Given the description of an element on the screen output the (x, y) to click on. 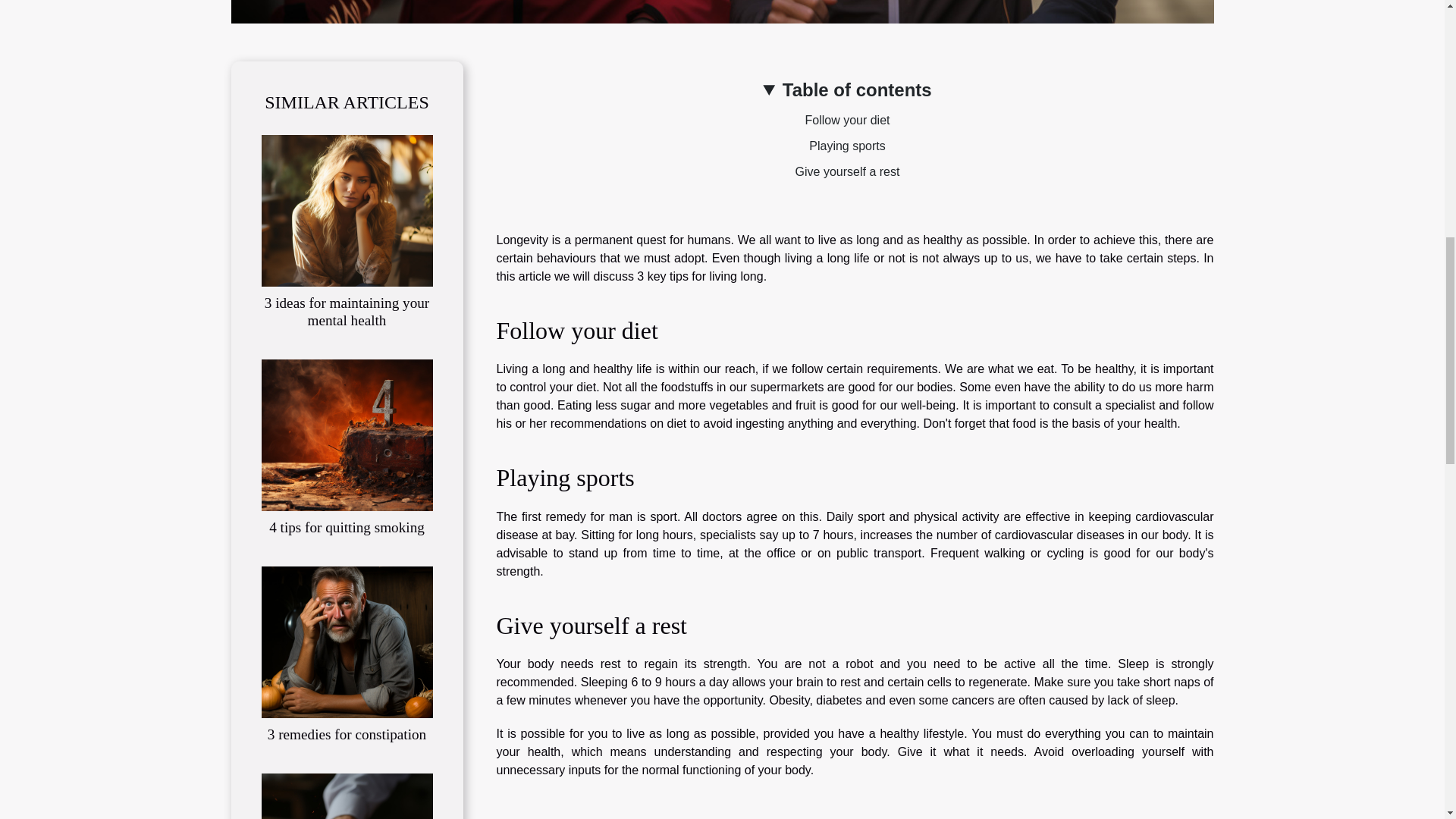
4 tips for quitting smoking (347, 527)
3 remedies for constipation (346, 640)
4 tips for quitting smoking (347, 527)
3 ideas for maintaining your mental health (346, 311)
4 tips for quitting smoking (346, 433)
3 remedies for constipation (346, 734)
3 ideas for maintaining your mental health (346, 311)
3 remedies for constipation (346, 734)
3 ideas for maintaining your mental health (346, 209)
Playing sports (847, 145)
